Given the description of an element on the screen output the (x, y) to click on. 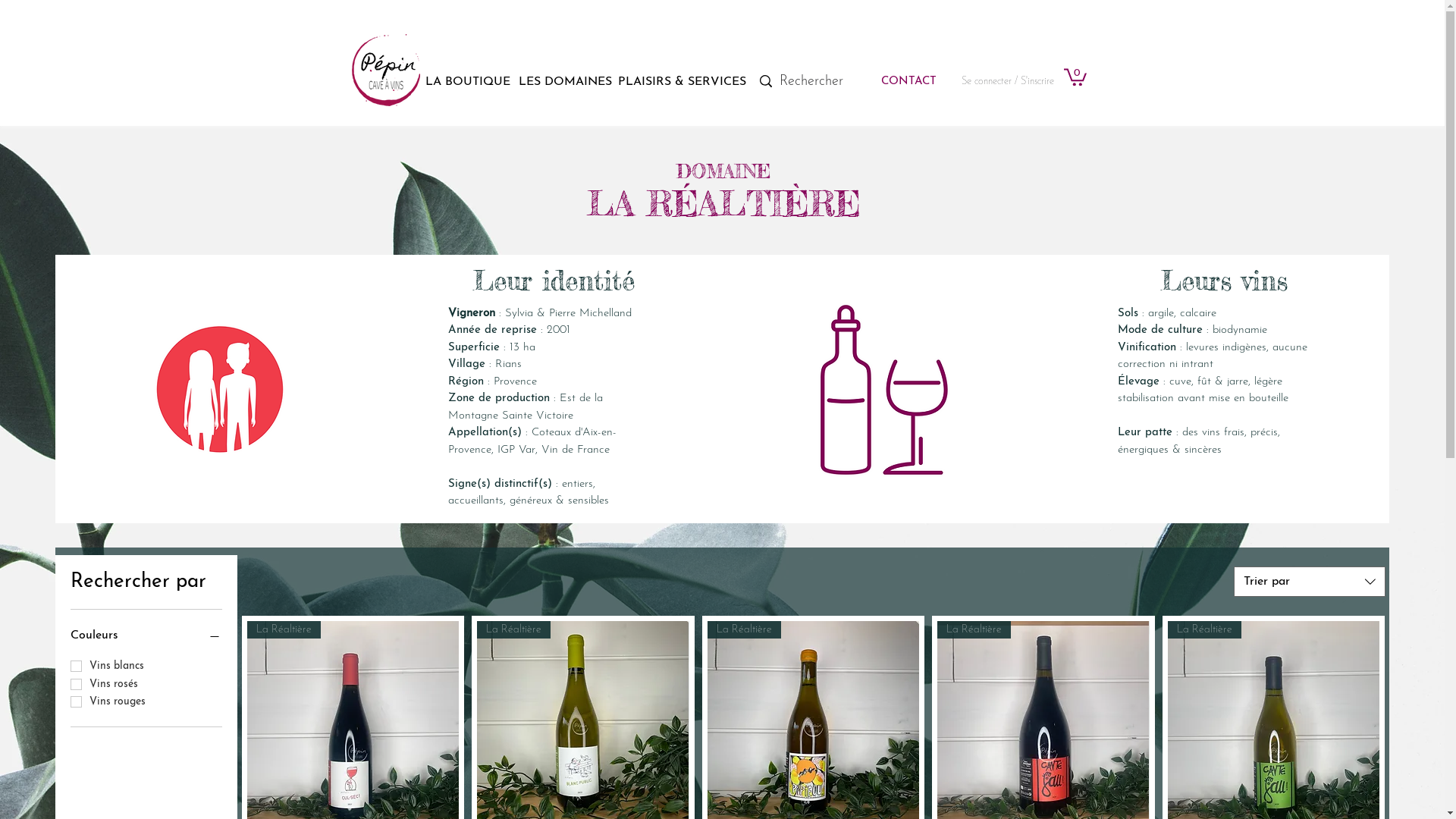
Se connecter / S'inscrire Element type: text (1007, 81)
Trier par Element type: text (1309, 581)
Couleurs Element type: text (146, 635)
CONTACT Element type: text (908, 81)
0 Element type: text (1074, 75)
